Given the description of an element on the screen output the (x, y) to click on. 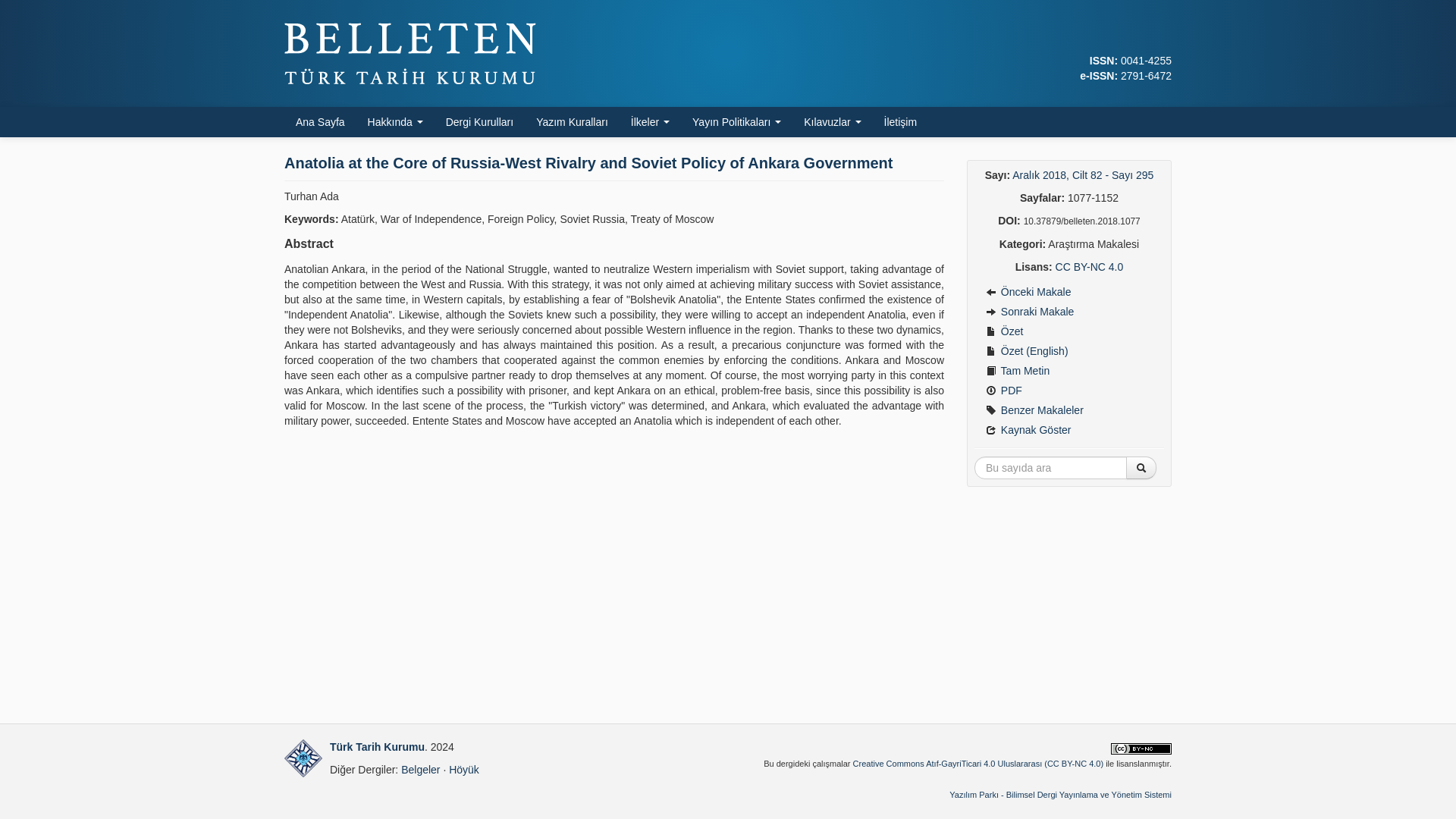
PDF (1068, 390)
Sonraki Makale (1068, 311)
CC BY-NC 4.0 (1089, 266)
Belgeler (420, 769)
Benzer Makaleler (1068, 410)
Ana Sayfa (319, 122)
Tam Metin (1068, 370)
